Given the description of an element on the screen output the (x, y) to click on. 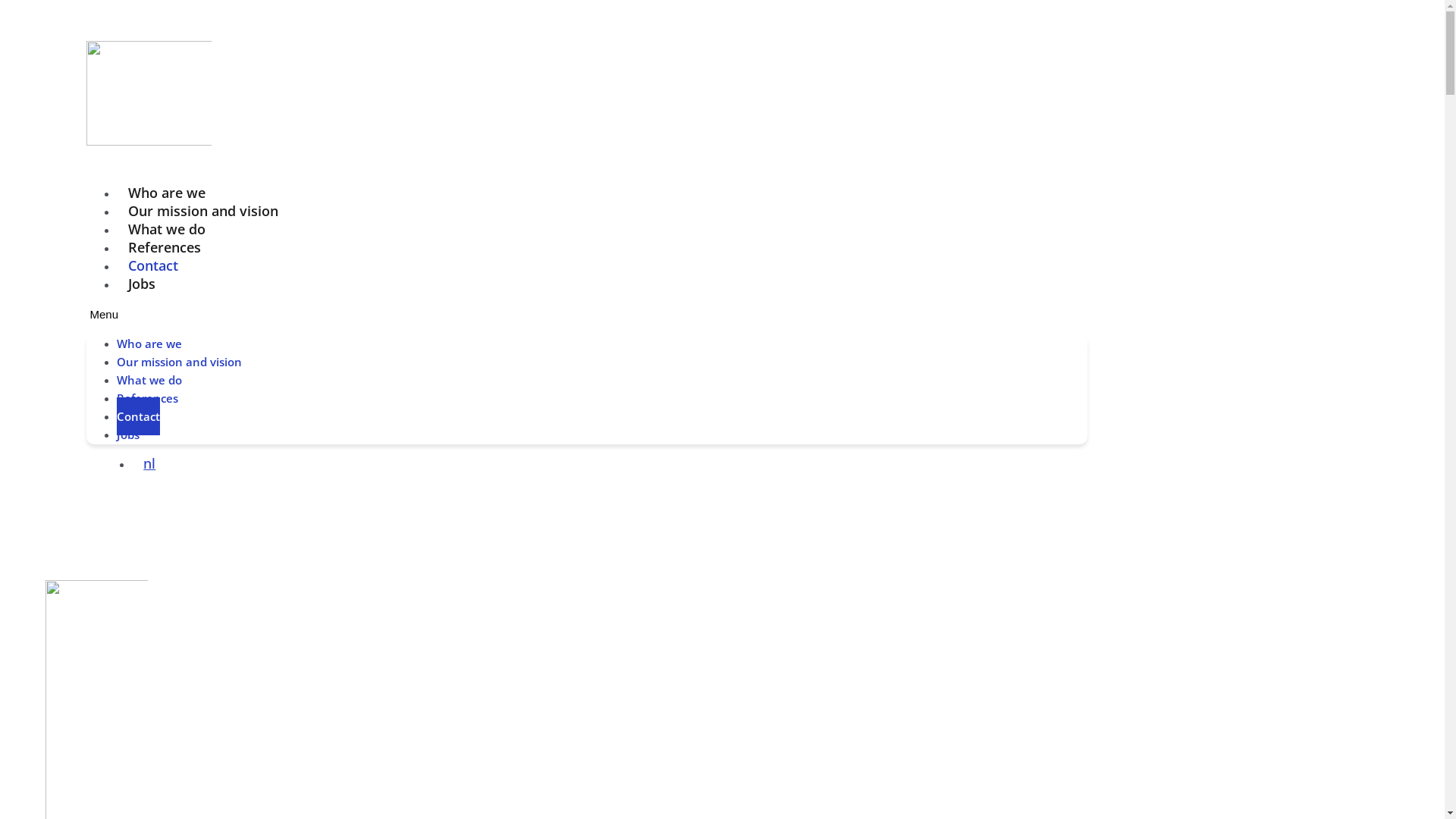
Jobs Element type: text (127, 434)
Who are we Element type: text (166, 192)
References Element type: text (164, 246)
References Element type: text (147, 398)
Who are we Element type: text (149, 343)
Our mission and vision Element type: text (202, 210)
What we do Element type: text (149, 379)
Contact Element type: text (138, 416)
What we do Element type: text (166, 228)
Skip to content Element type: text (37, 8)
Contact Element type: text (152, 265)
Our mission and vision Element type: text (178, 361)
Jobs Element type: text (141, 283)
nl Element type: text (145, 463)
